Given the description of an element on the screen output the (x, y) to click on. 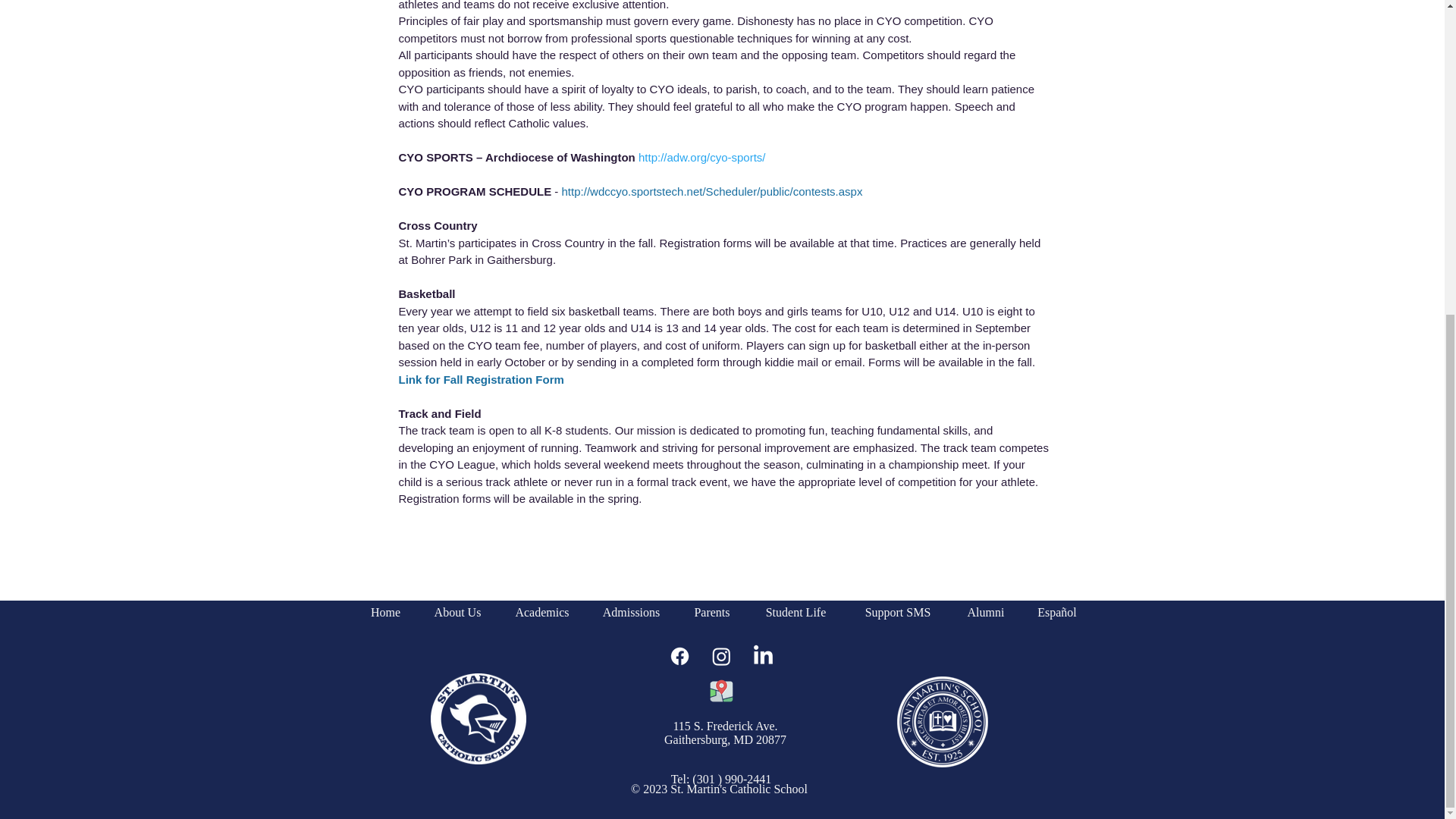
CYO PROGRAM SCHEDULE (474, 191)
Link for Fall Registration Form (481, 378)
CYO SPORTS (437, 156)
